Given the description of an element on the screen output the (x, y) to click on. 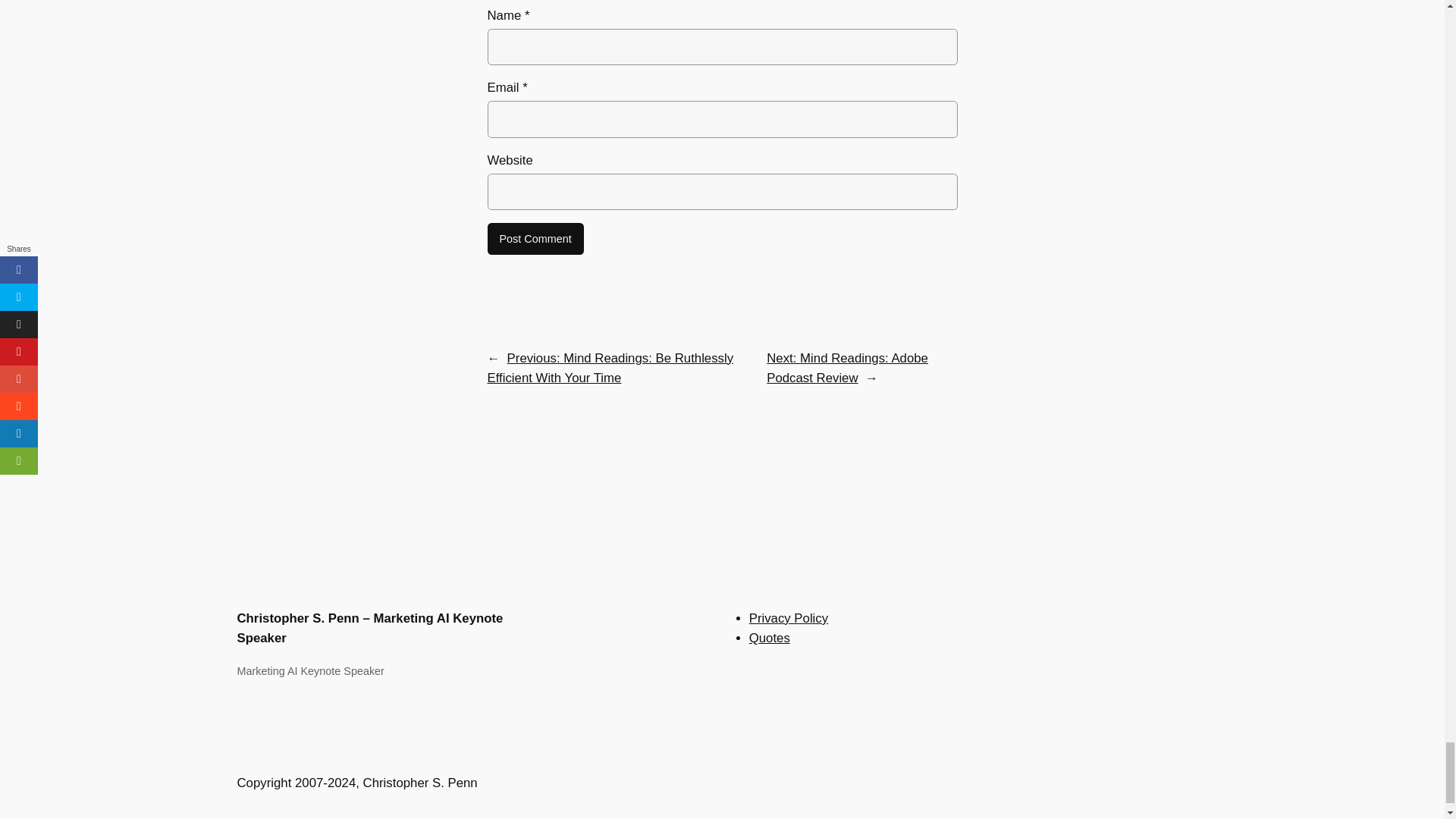
Post Comment (534, 238)
